Given the description of an element on the screen output the (x, y) to click on. 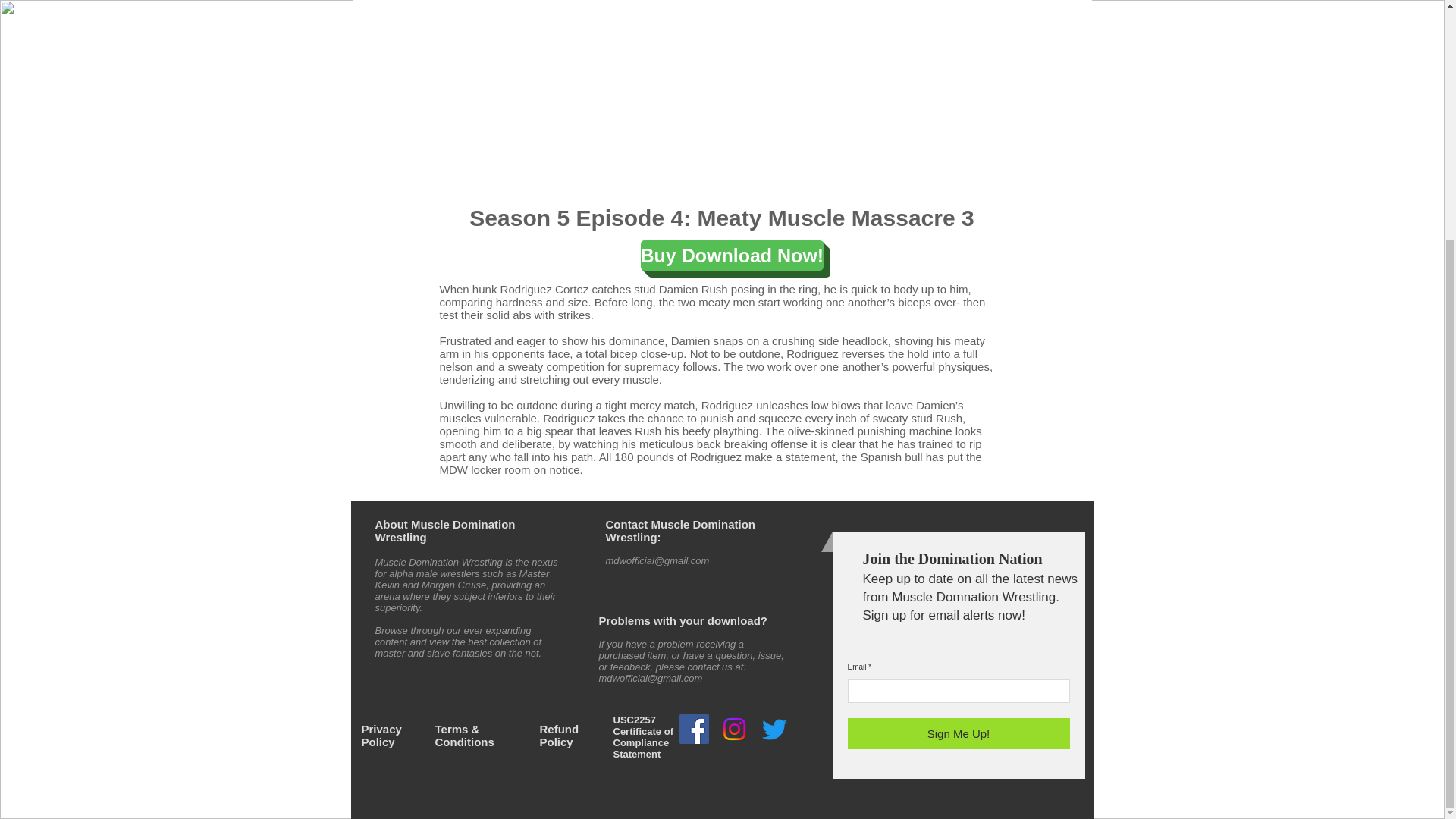
Chat via Skype (757, 548)
Buy Download Now! (732, 255)
